Given the description of an element on the screen output the (x, y) to click on. 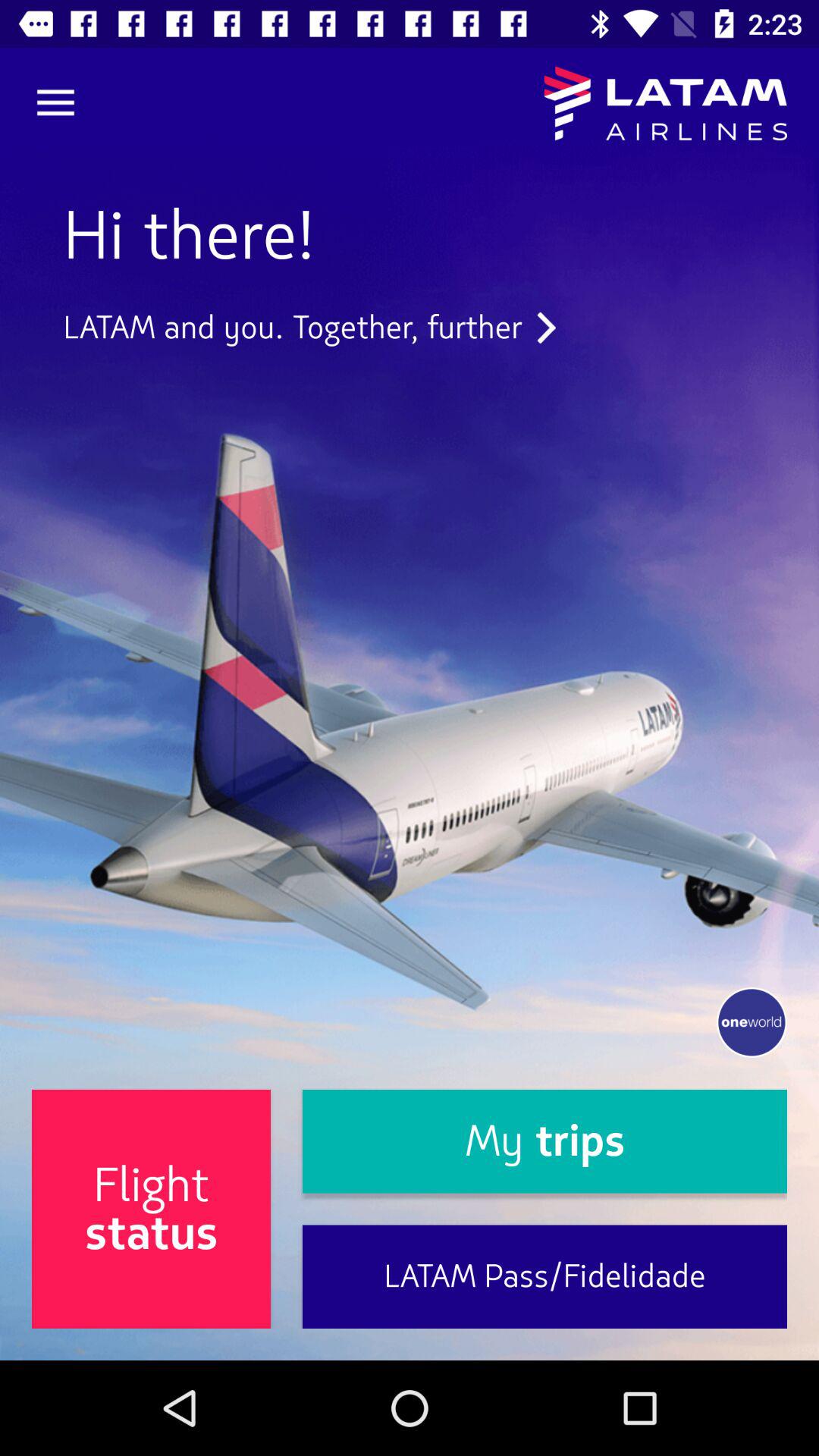
turn off icon next to the my trips item (150, 1208)
